Given the description of an element on the screen output the (x, y) to click on. 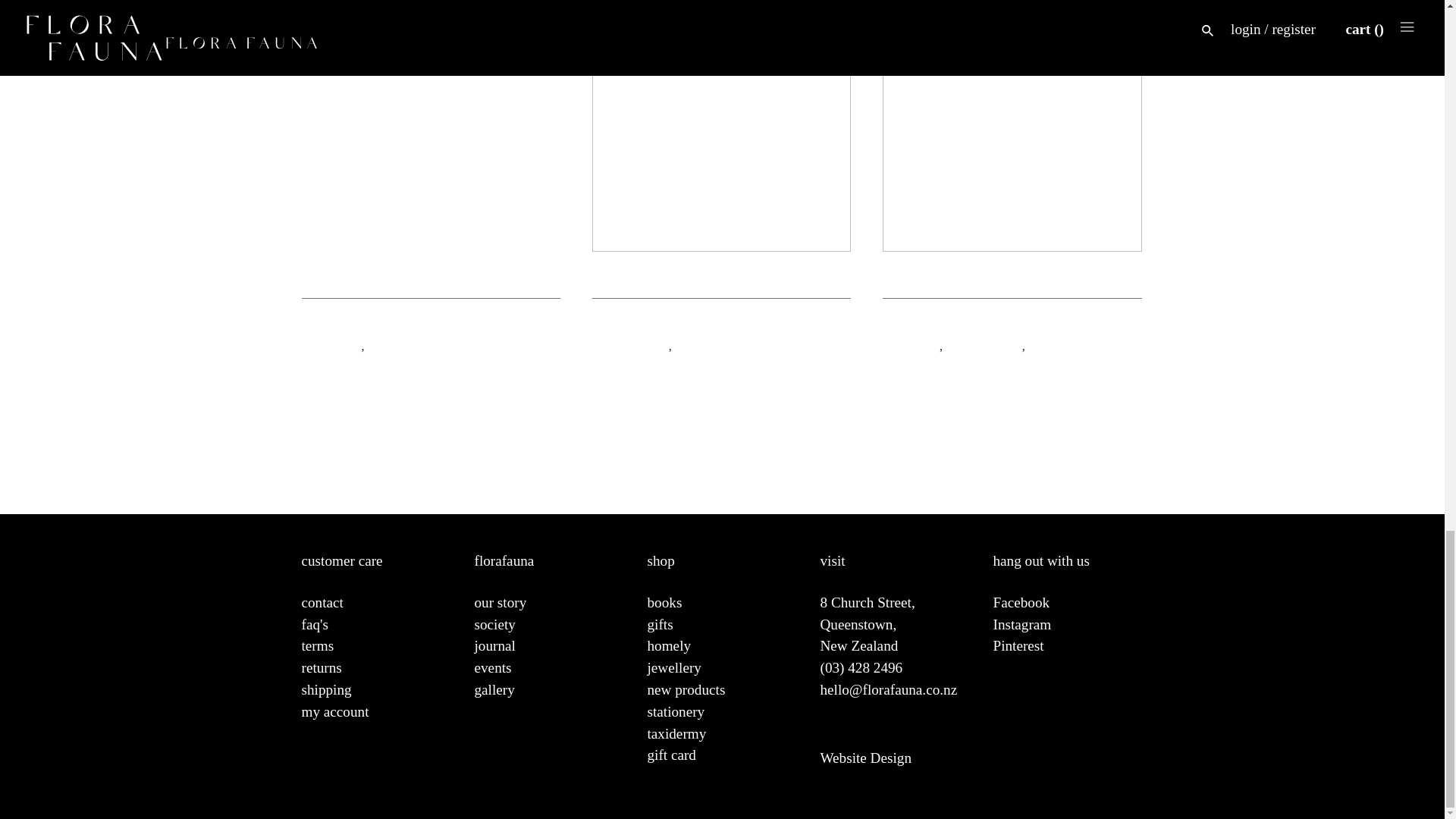
Stationery (331, 344)
Taxidermy (706, 344)
New Product (405, 344)
New Product (630, 344)
